Given the description of an element on the screen output the (x, y) to click on. 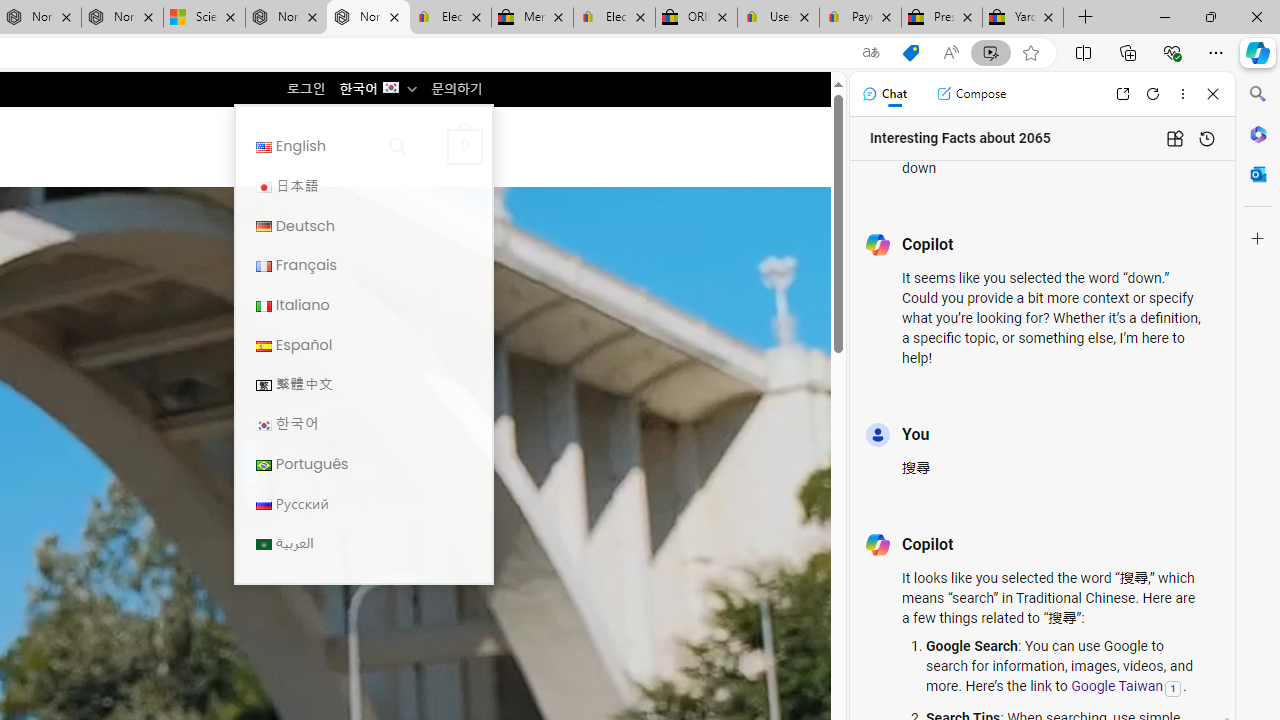
Nordace - Home (368, 17)
Deutsch (263, 227)
 Italiano (363, 303)
